Given the description of an element on the screen output the (x, y) to click on. 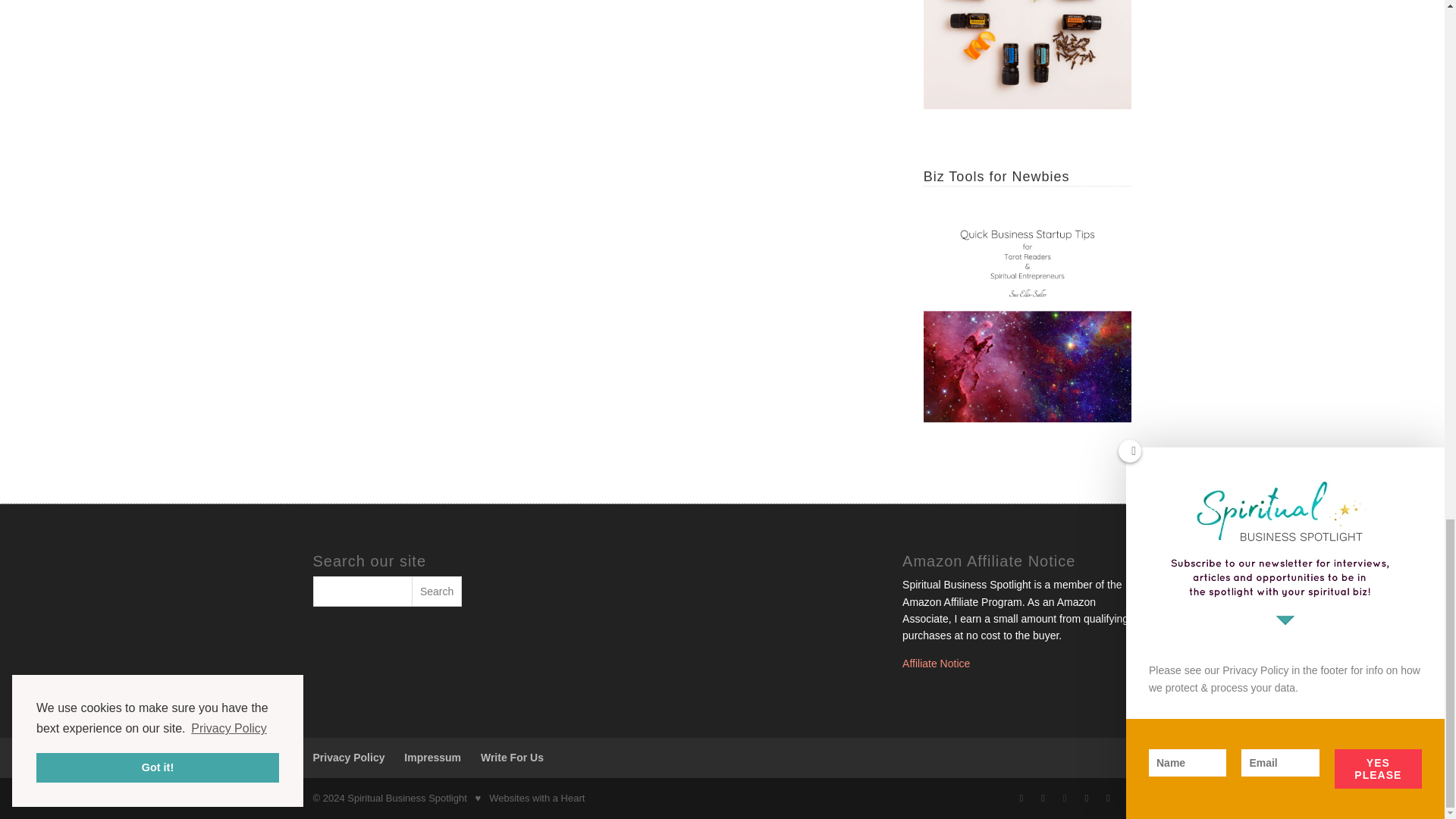
Websites with a Heart (537, 797)
Search (436, 591)
made with love (478, 797)
Impressum (432, 757)
Write For Us (511, 757)
Search (436, 591)
Privacy Policy (348, 757)
Affiliate Notice (935, 663)
Spiritual Business Spotlight (407, 797)
